Given the description of an element on the screen output the (x, y) to click on. 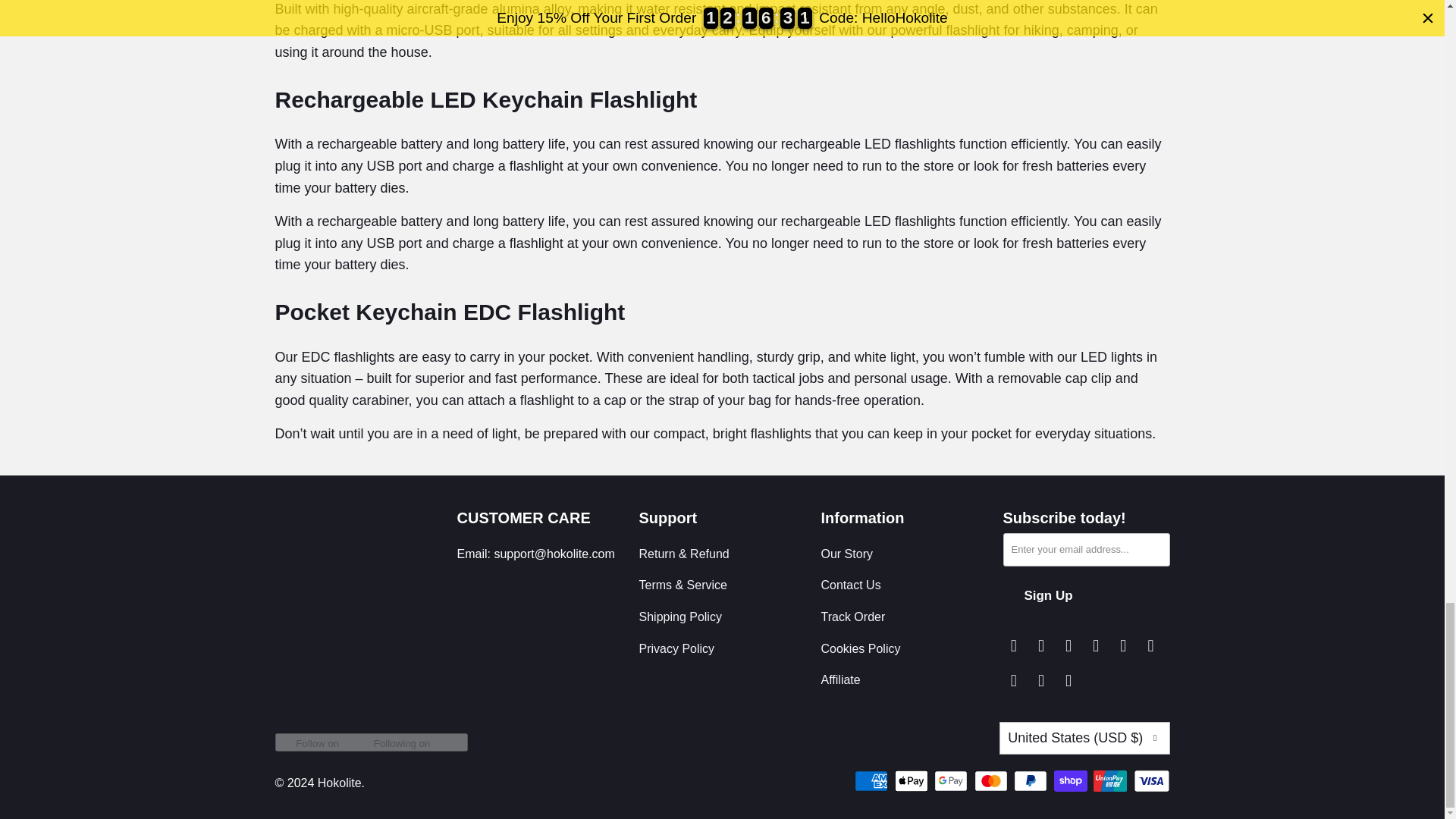
Hokolite on Facebook (1041, 646)
Union Pay (1111, 780)
Hokolite on Kickstarter (1096, 646)
Apple Pay (913, 780)
Hokolite on WhatsApp (1041, 680)
Hokolite on Instagram (1069, 646)
Hokolite on Pinterest (1150, 646)
Hokolite on TikTok (1014, 680)
American Express (872, 780)
Shop Pay (1072, 780)
Sign Up (1048, 596)
PayPal (1031, 780)
Google Pay (952, 780)
Hokolite on YouTube (1069, 680)
Visa (1150, 780)
